Given the description of an element on the screen output the (x, y) to click on. 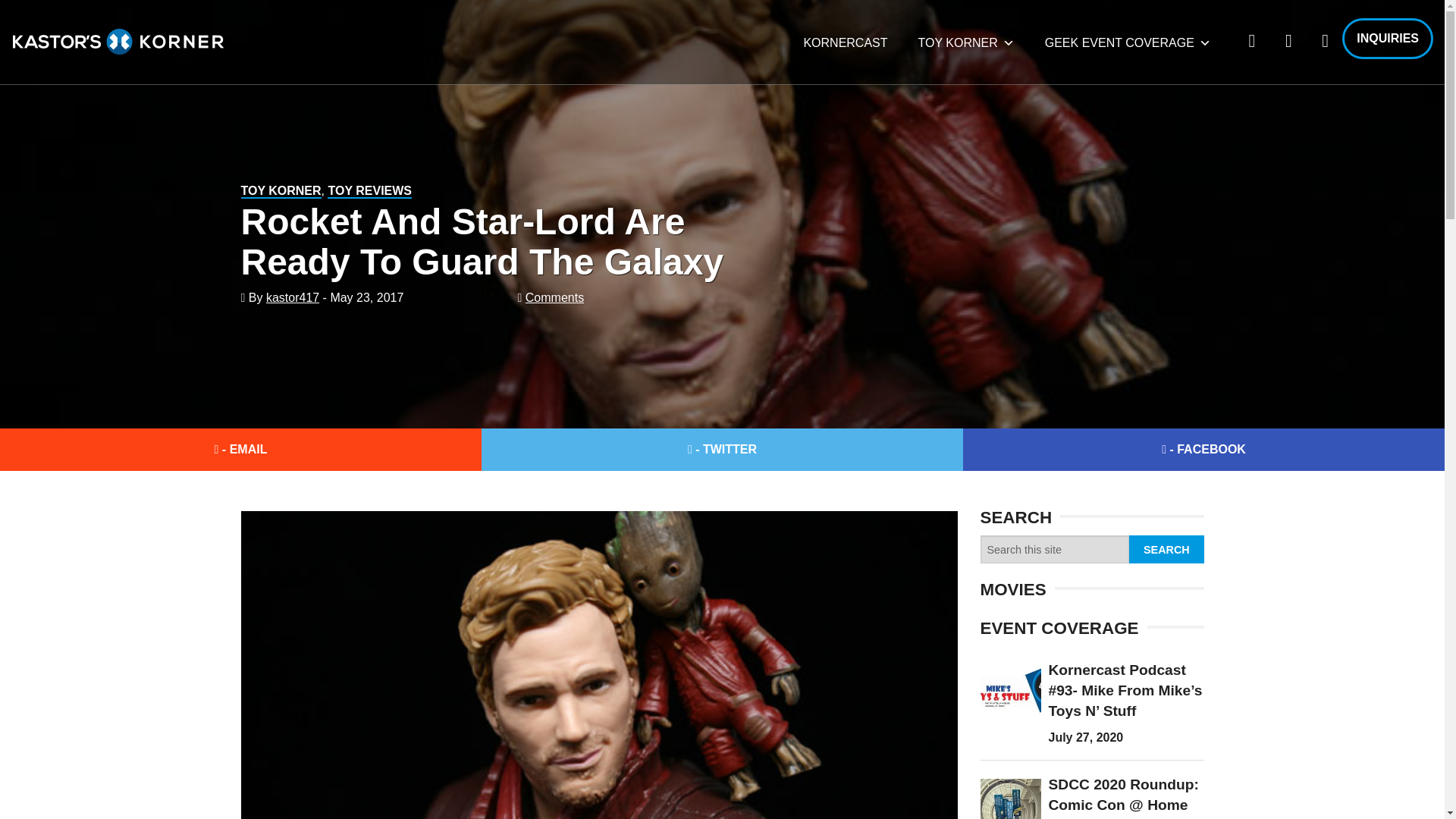
- TWITTER (721, 449)
GEEK EVENT COVERAGE (1127, 42)
KORNERCAST (844, 42)
Comments (554, 297)
Kastors Korner (117, 41)
- EMAIL (240, 449)
INQUIRIES (1387, 38)
TOY KORNER (965, 42)
Search (1166, 549)
TOY REVIEWS (369, 191)
TOY KORNER (281, 191)
kastor417 (292, 297)
